Given the description of an element on the screen output the (x, y) to click on. 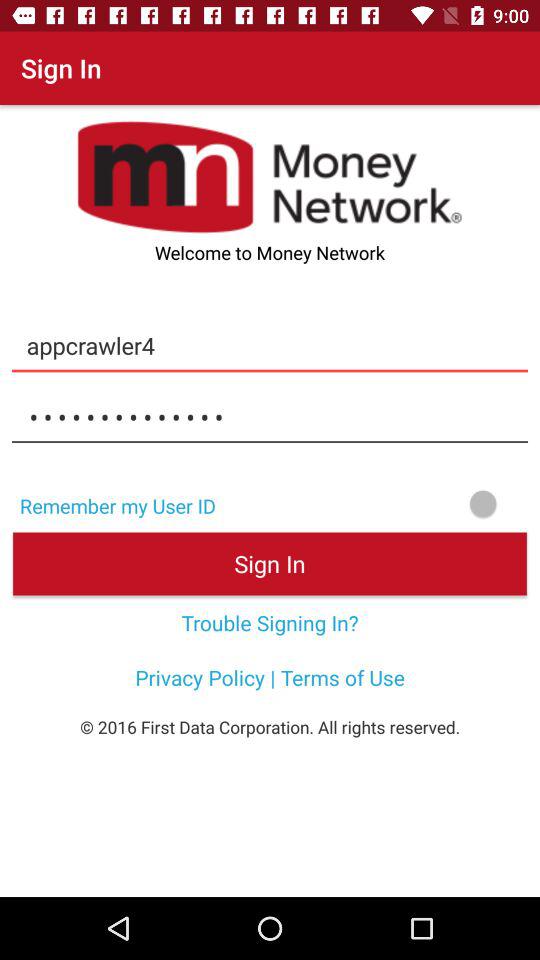
open the appcrawler4 icon (269, 345)
